Given the description of an element on the screen output the (x, y) to click on. 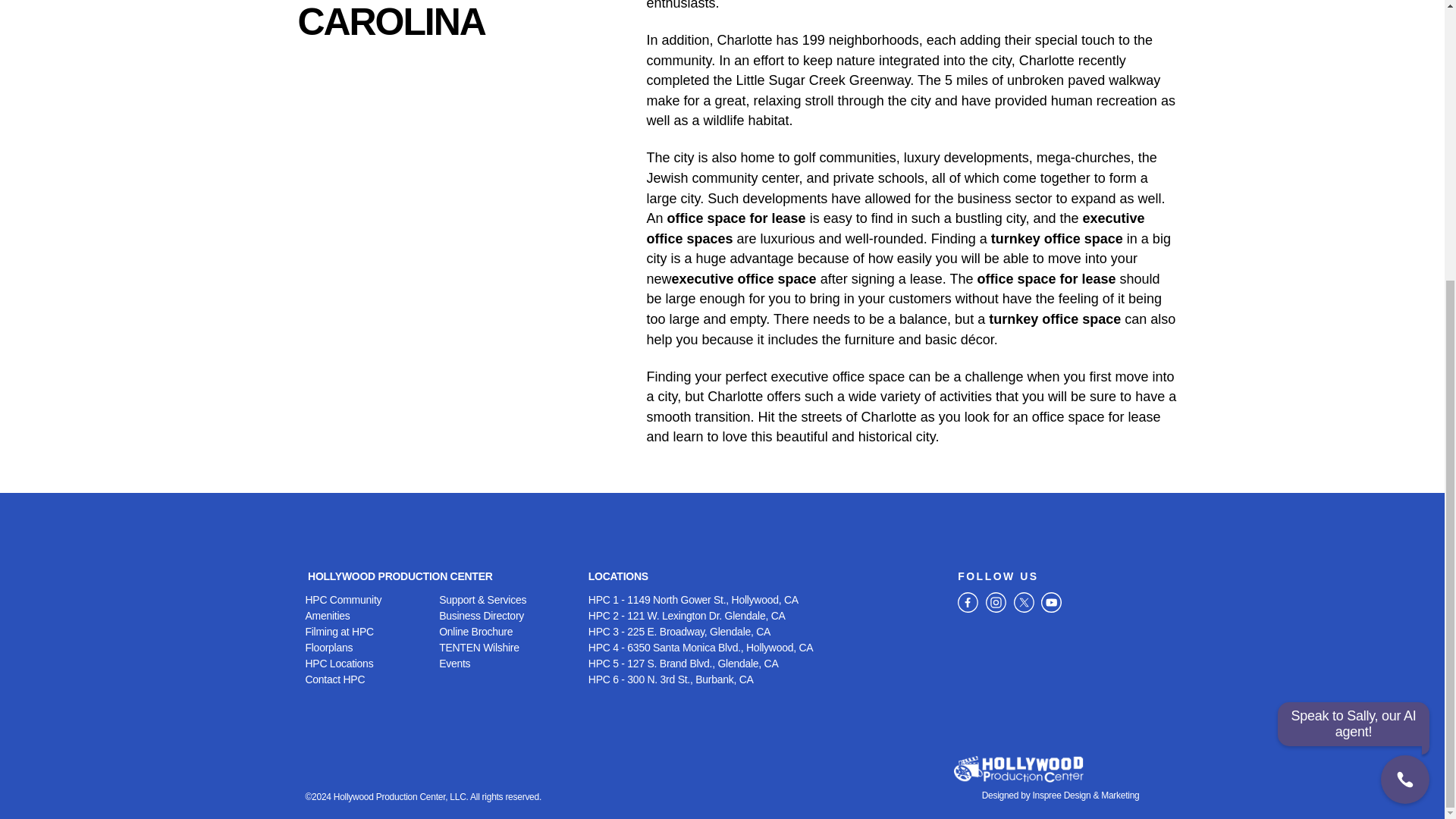
Events (506, 663)
HPC 3 - 225 E. Broadway, Glendale, CA (765, 631)
Filming at HPC (371, 631)
Contact HPC (371, 679)
HPC 1 - 1149 North Gower St., Hollywood, CA (765, 600)
HPC Locations (371, 663)
Online Brochure (506, 631)
HPC 4 - 6350 Santa Monica Blvd., Hollywood, CA (765, 647)
Inspree (1046, 795)
Amenities (371, 616)
